Given the description of an element on the screen output the (x, y) to click on. 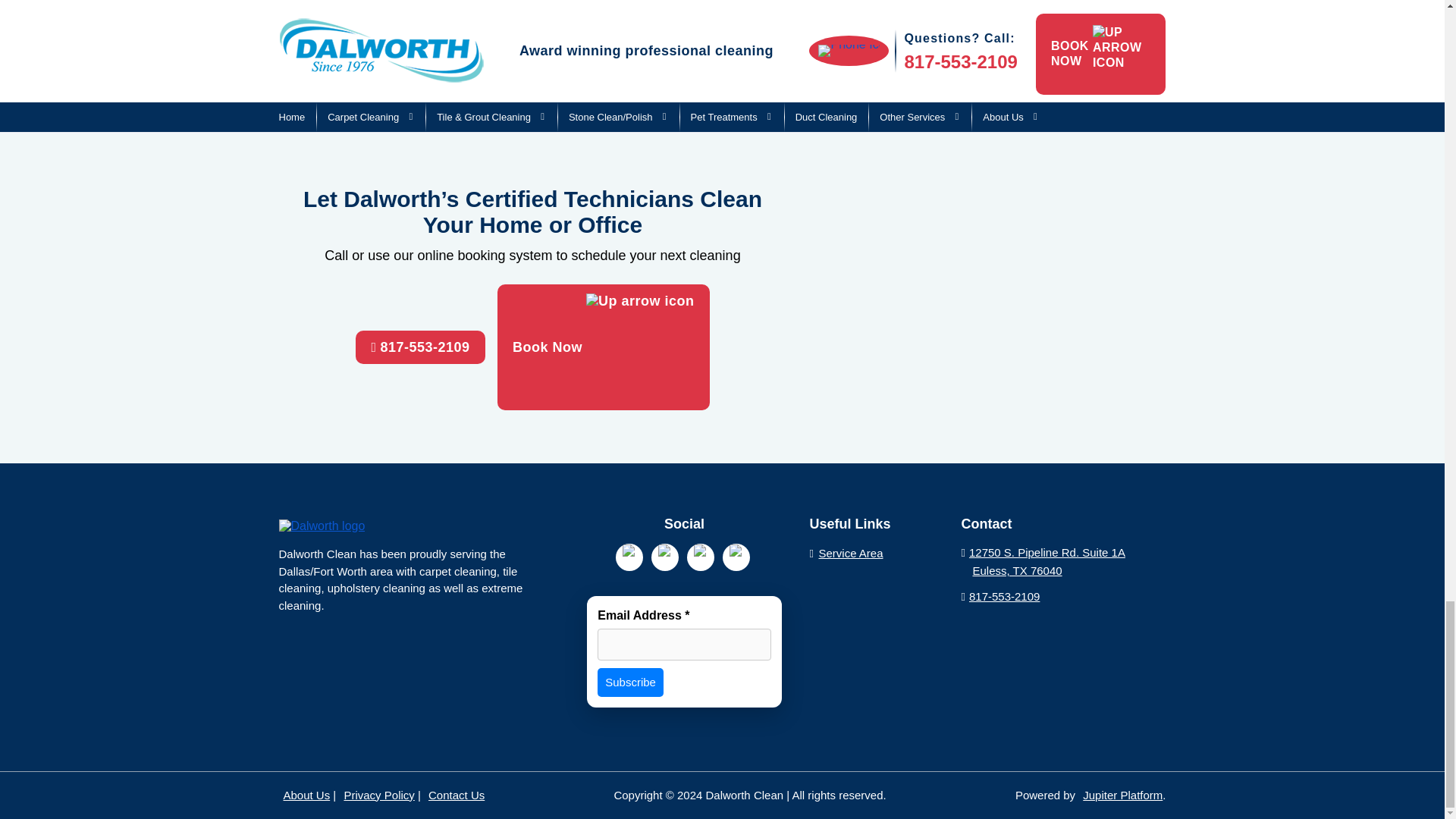
View Google (629, 556)
Subscribe (629, 682)
View Instagram (700, 556)
View X (735, 556)
View Facebook (664, 556)
